Given the description of an element on the screen output the (x, y) to click on. 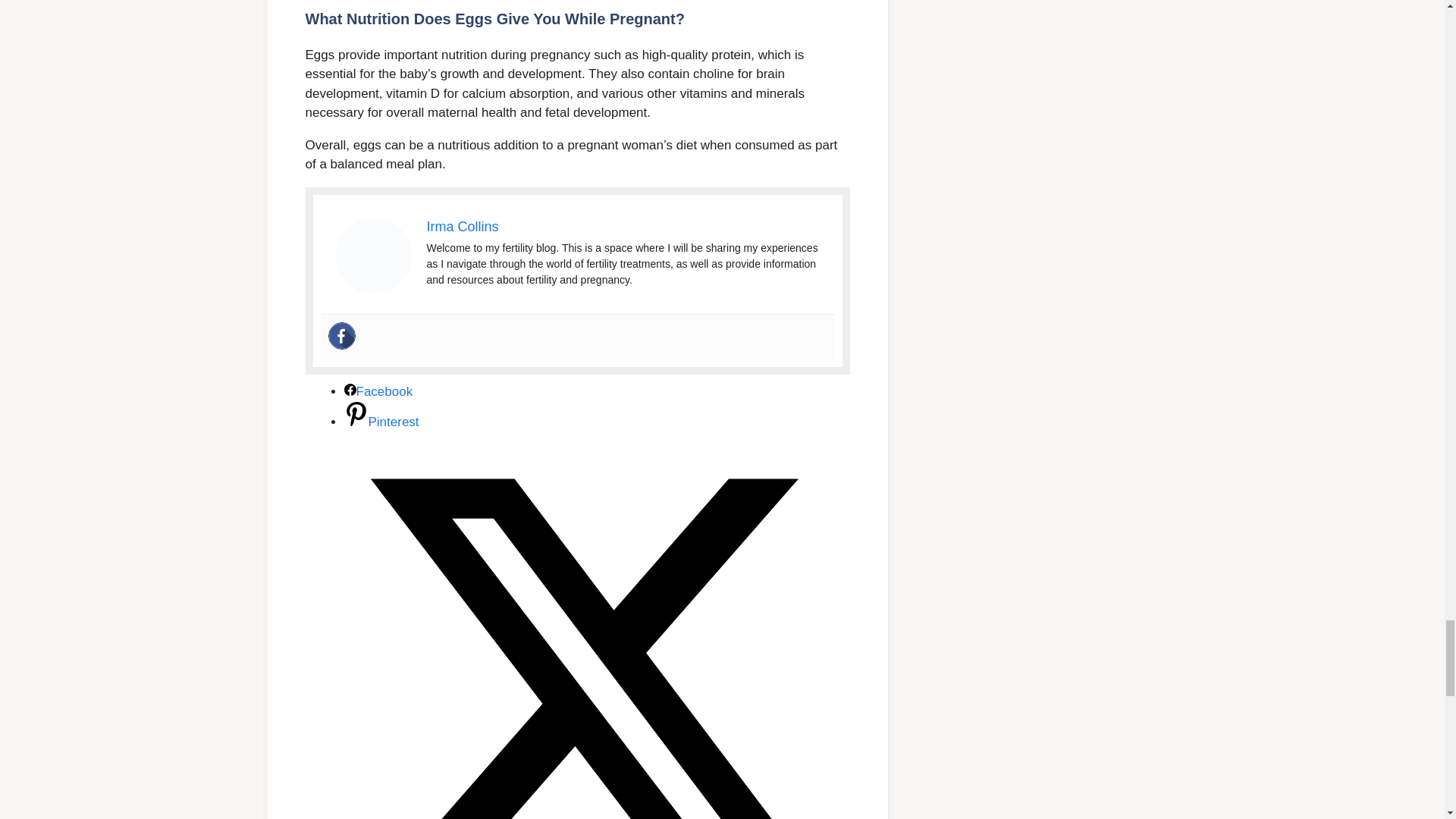
Irma Collins (461, 226)
Facebook (378, 391)
